Given the description of an element on the screen output the (x, y) to click on. 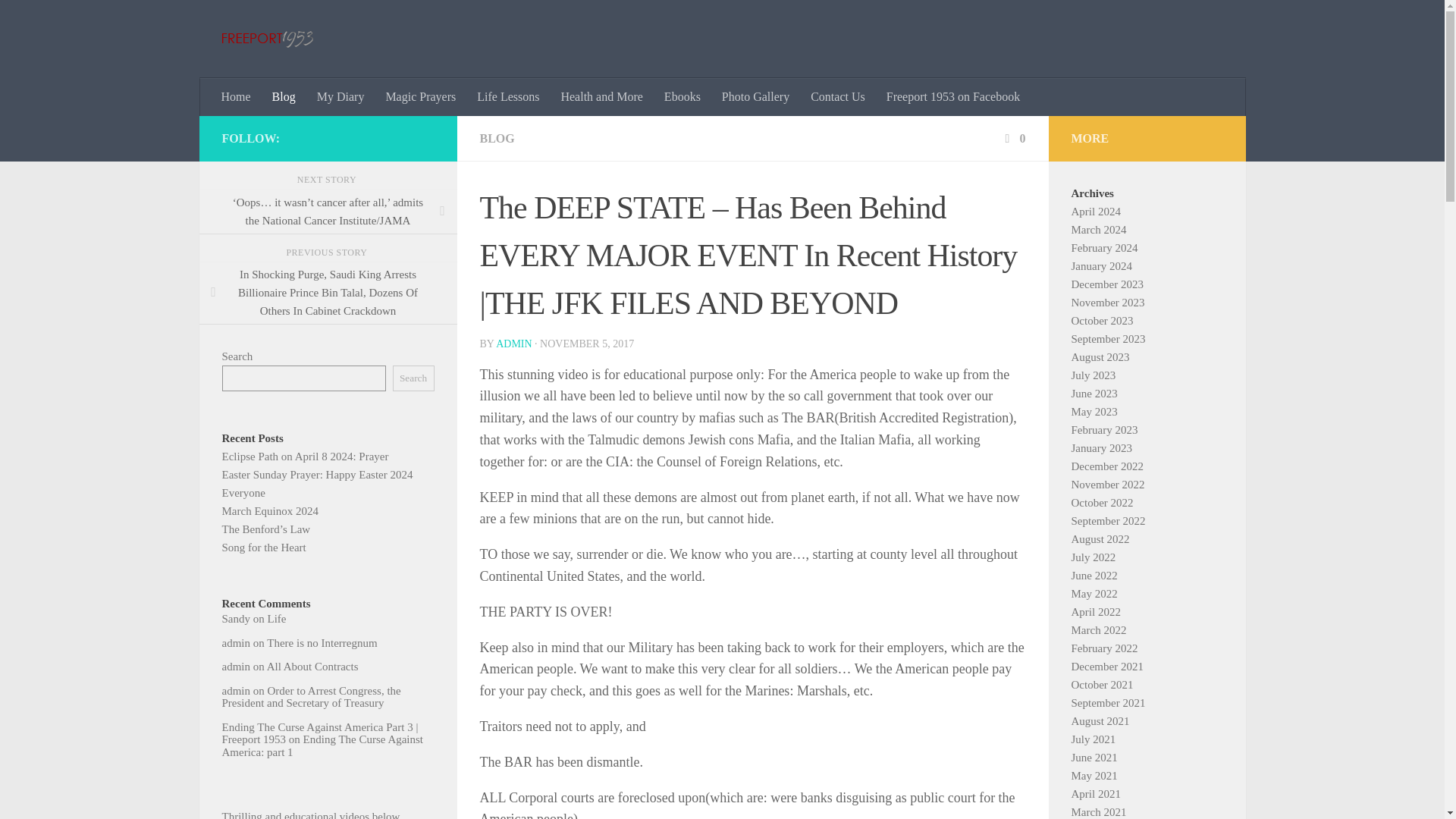
Freeport 1953 on Facebook (953, 96)
BLOG (496, 137)
0 (1013, 137)
Posts by admin (513, 343)
Skip to content (59, 20)
Photo Gallery (755, 96)
ADMIN (513, 343)
My Diary (340, 96)
Home (236, 96)
Ebooks (682, 96)
Health and More (601, 96)
Blog (283, 96)
Magic Prayers (419, 96)
Life Lessons (507, 96)
Contact Us (837, 96)
